Given the description of an element on the screen output the (x, y) to click on. 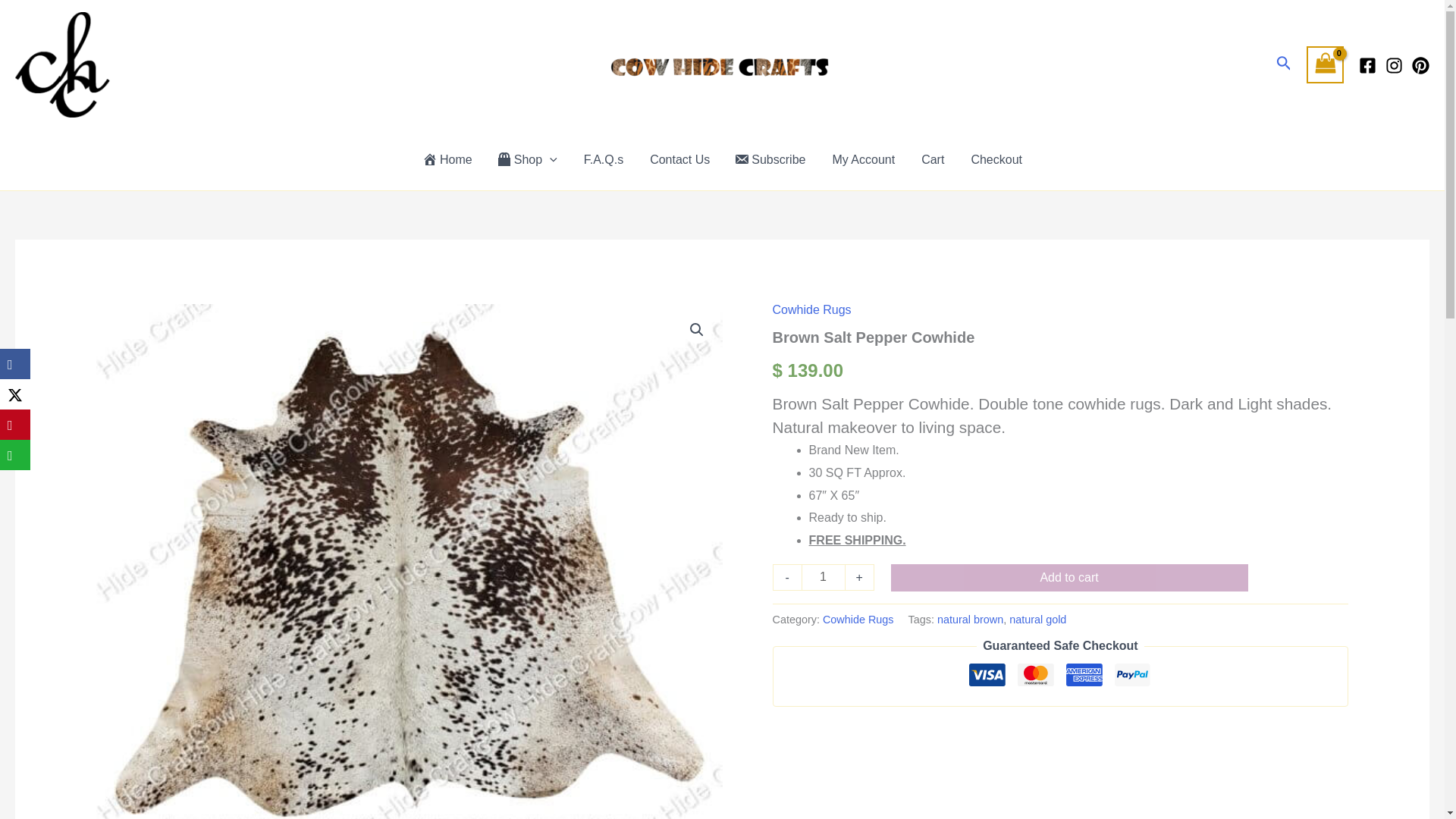
1 (823, 577)
natural gold (1037, 619)
Add to cart (1069, 577)
- (787, 577)
My Account (861, 159)
My Account (861, 159)
Cowhide Rugs (812, 309)
Cowhide Rugs (857, 619)
Checkout (994, 159)
Contact Us (678, 159)
F.A.Q.s (601, 159)
Subscribe (769, 159)
Shop (526, 159)
Home (447, 159)
natural brown (970, 619)
